Given the description of an element on the screen output the (x, y) to click on. 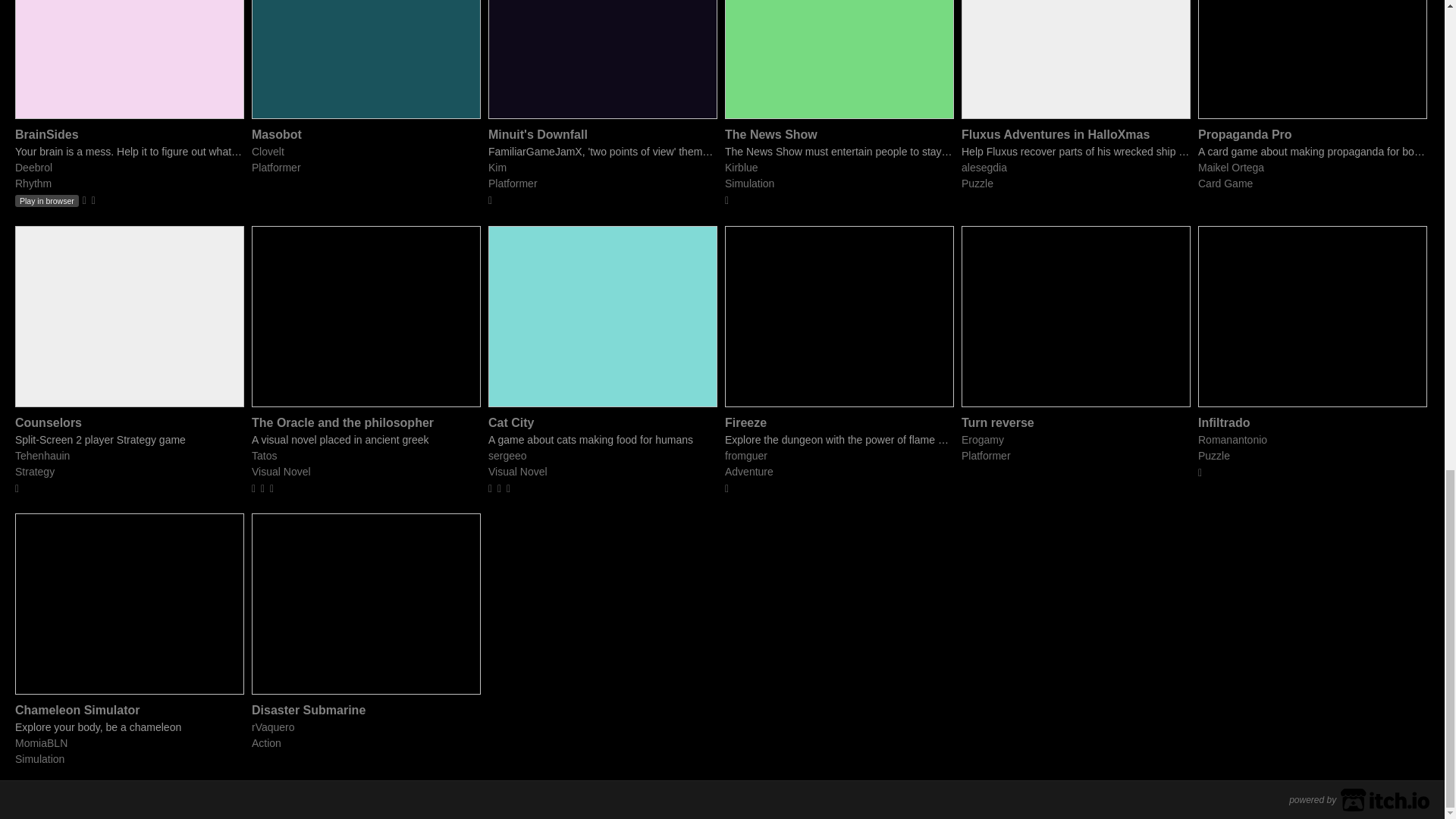
A visual novel placed in ancient greek (365, 439)
A card game about making propaganda for both sides of a war (1312, 151)
Deebrol (33, 167)
Split-Screen 2 player Strategy game (129, 439)
BrainSides (46, 133)
The News Show must entertain people to stay profitable. (839, 151)
